Given the description of an element on the screen output the (x, y) to click on. 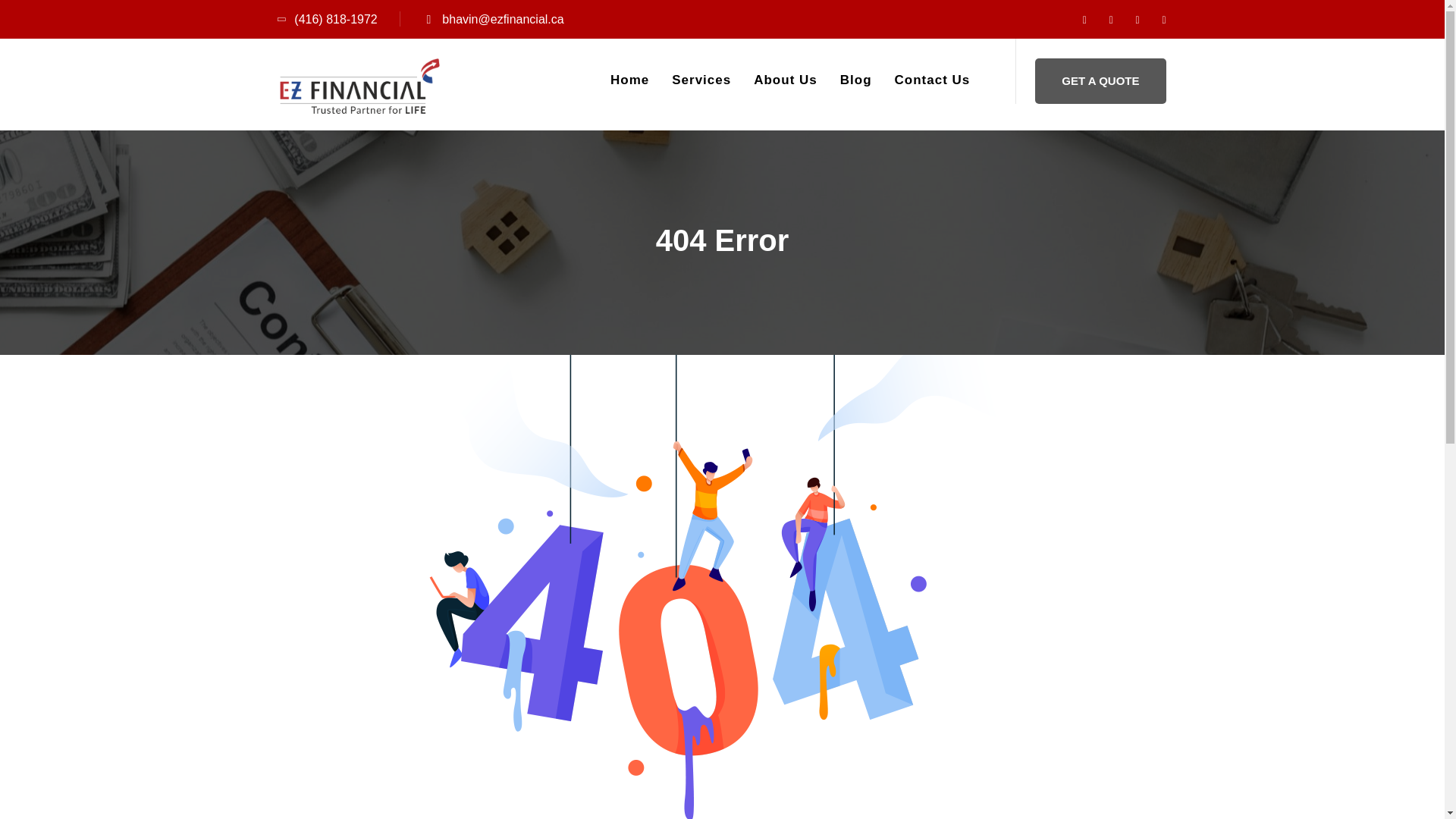
Home (629, 79)
About Us (785, 79)
Home (629, 79)
Blog (856, 79)
Services (700, 79)
Services (700, 79)
GET A QUOTE (1100, 81)
Ez Financial (363, 92)
Contact Us (933, 79)
